Given the description of an element on the screen output the (x, y) to click on. 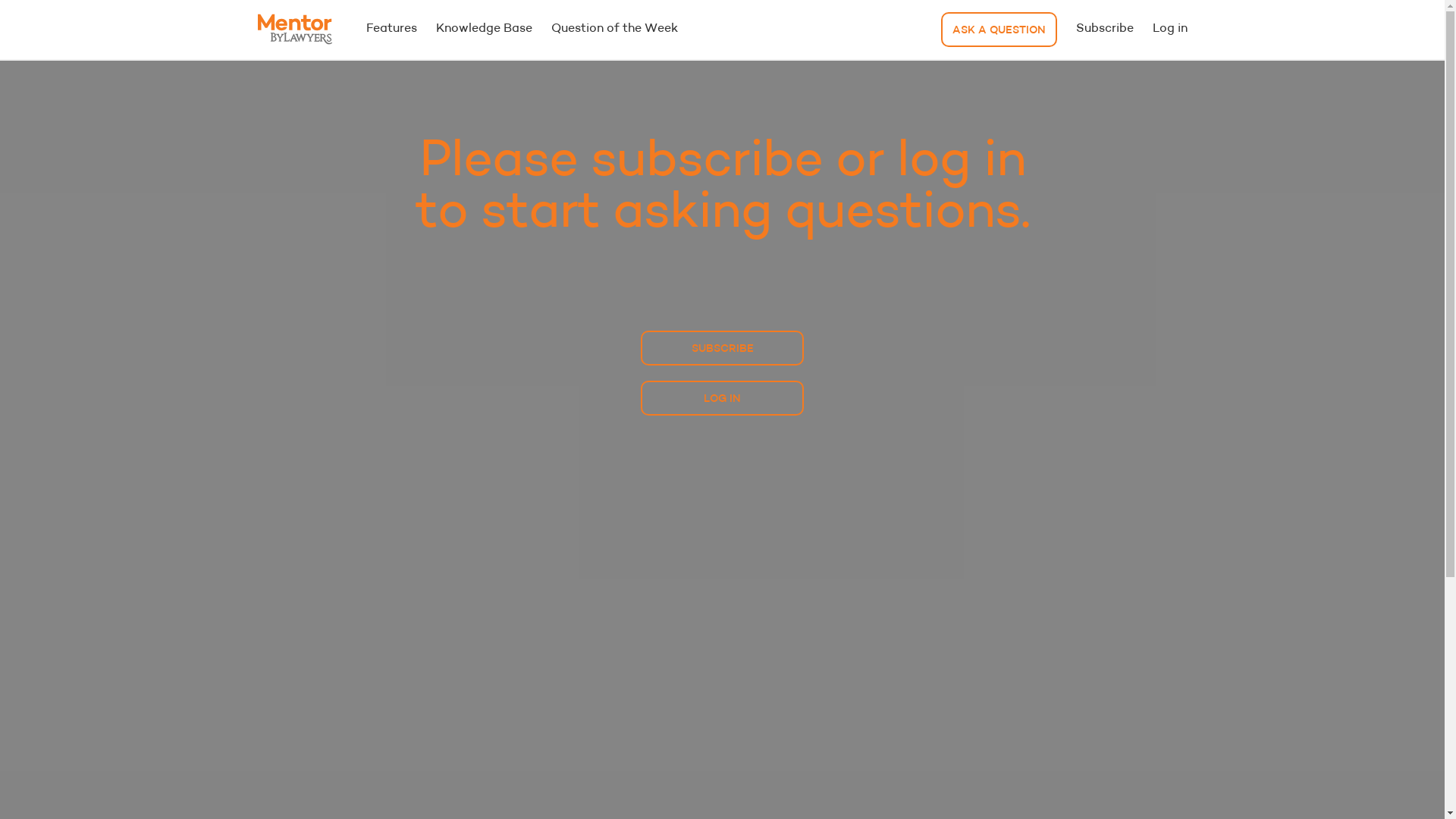
Knowledge Base Element type: text (483, 29)
SUBSCRIBE Element type: text (721, 347)
Features Element type: text (390, 29)
Subscribe Element type: text (1103, 29)
LOG IN Element type: text (721, 397)
Log in Element type: text (1169, 29)
ASK A QUESTION Element type: text (998, 29)
Question of the Week Element type: text (613, 29)
